Given the description of an element on the screen output the (x, y) to click on. 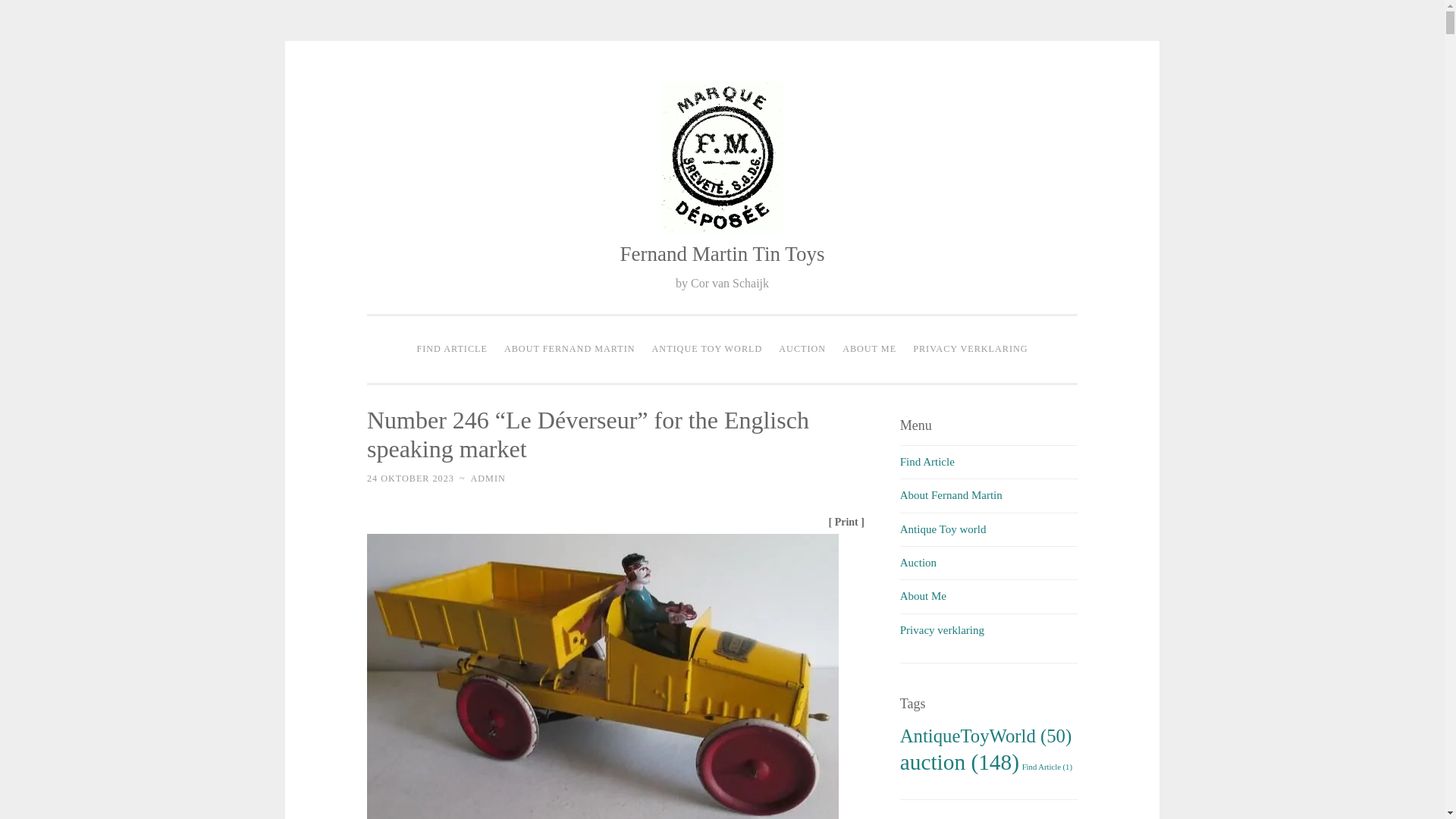
About Fernand Martin (951, 494)
Antique Toy world (943, 529)
FIND ARTICLE (451, 349)
AUCTION (801, 349)
ABOUT ME (868, 349)
About Me (922, 595)
Find Article (927, 461)
ANTIQUE TOY WORLD (707, 349)
ADMIN (487, 478)
